Given the description of an element on the screen output the (x, y) to click on. 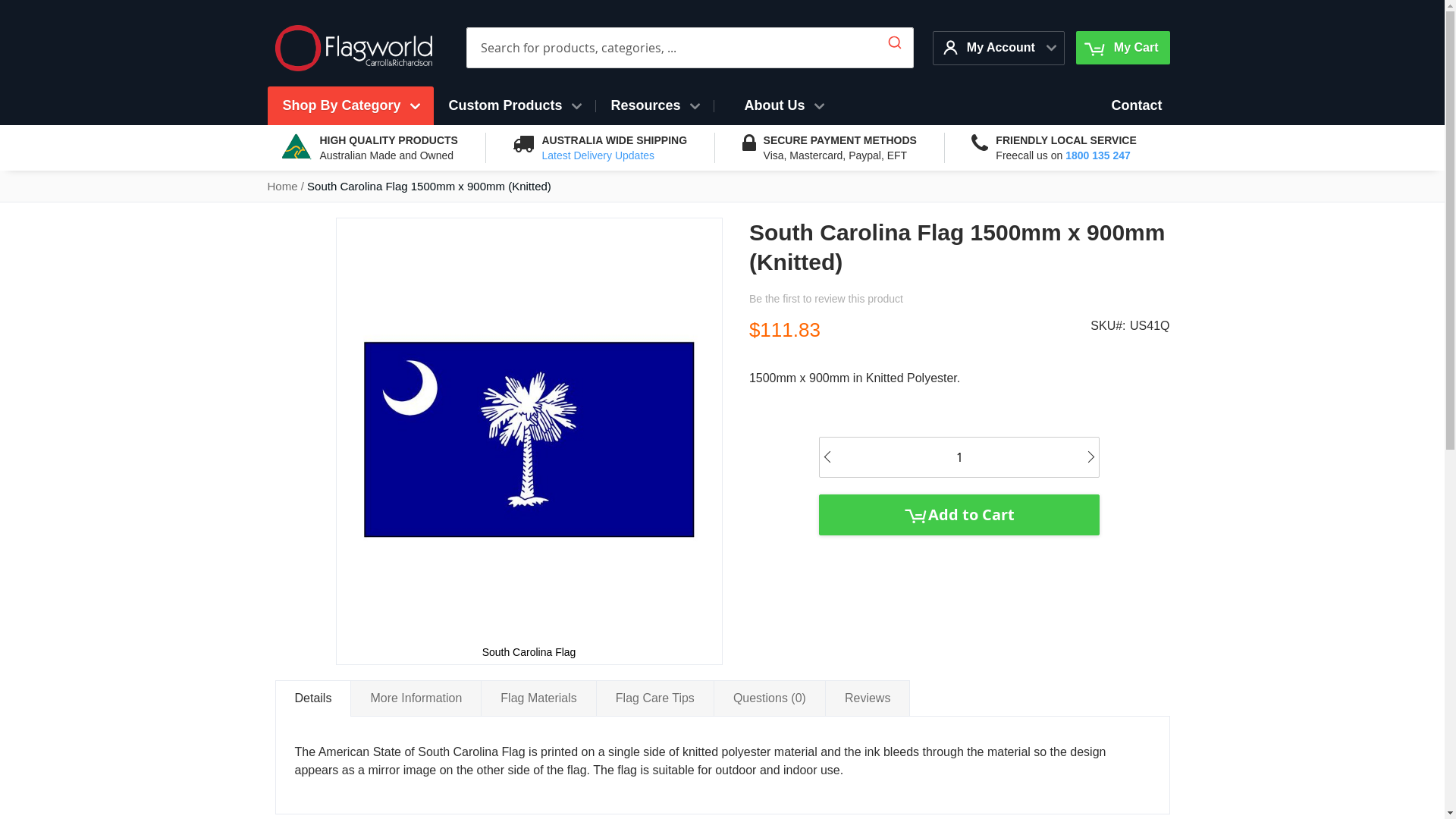
Flag Materials Element type: text (538, 697)
1800 135 247 Element type: text (1097, 155)
Contact Element type: text (1136, 105)
My Cart Element type: text (1122, 47)
Add to Cart Element type: text (959, 514)
Qty Element type: hover (959, 457)
Flag Care Tips Element type: text (655, 697)
Be the first to review this product Element type: text (826, 298)
More Information Element type: text (415, 697)
Reviews Element type: text (867, 697)
Submit Element type: hover (894, 39)
Details Element type: text (312, 698)
Custom Products Element type: text (514, 105)
Questions (0) Element type: text (769, 697)
About Us Element type: text (783, 105)
My Account Element type: text (991, 46)
Home Element type: text (281, 185)
Shop By Category Element type: text (349, 105)
Resources Element type: text (654, 105)
Latest Delivery Updates Element type: text (597, 155)
Flagworld Logo Element type: hover (352, 48)
